Given the description of an element on the screen output the (x, y) to click on. 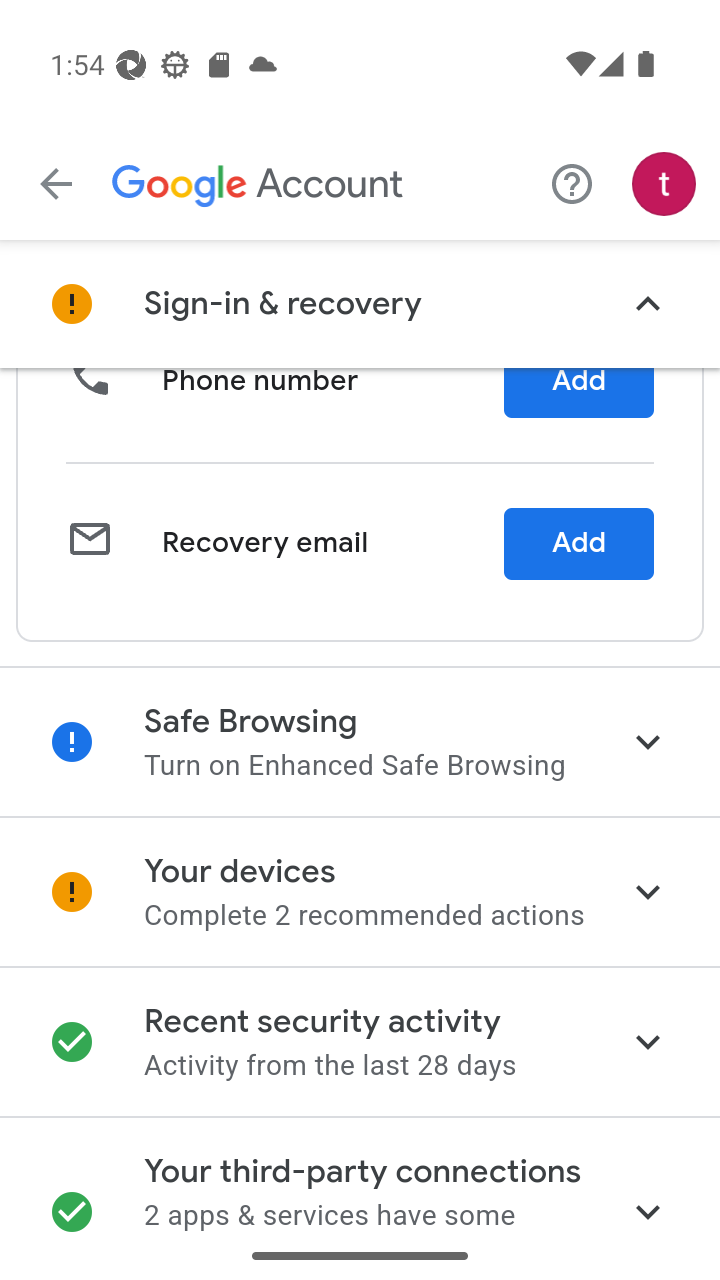
Navigate up (56, 184)
Help & feedback (571, 183)
Issues found in sign-in & recovery (360, 304)
Add your phone number (577, 381)
Add a recovery email (577, 543)
Safe Browsing Turn on Enhanced Safe Browsing (360, 742)
